Given the description of an element on the screen output the (x, y) to click on. 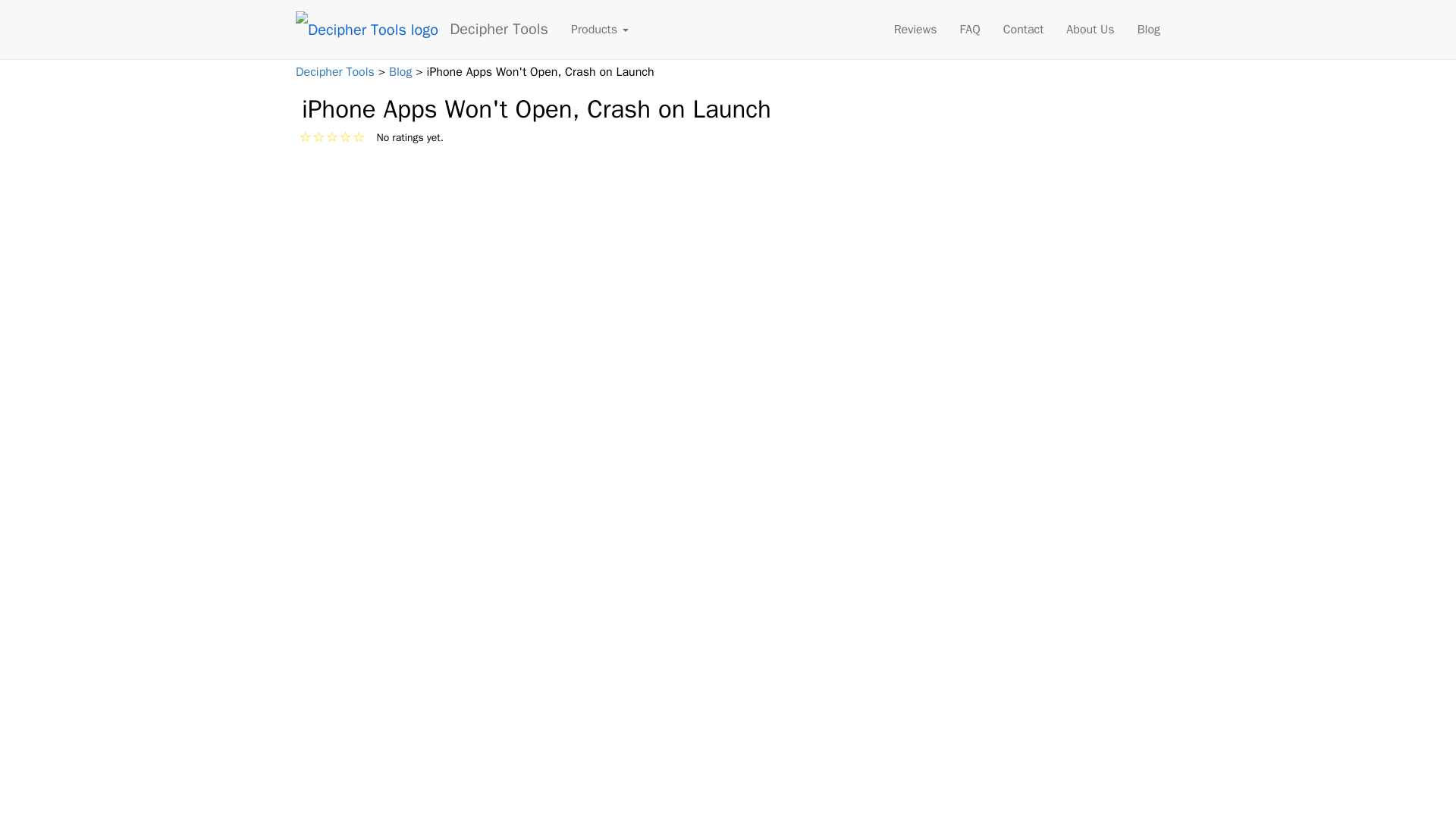
Decipher Tools (498, 18)
Products (599, 29)
FAQ (970, 29)
Reviews (915, 29)
Decipher Tools (336, 71)
Blog (1148, 29)
Contact (1023, 29)
Blog (401, 71)
About Us (1089, 29)
